Given the description of an element on the screen output the (x, y) to click on. 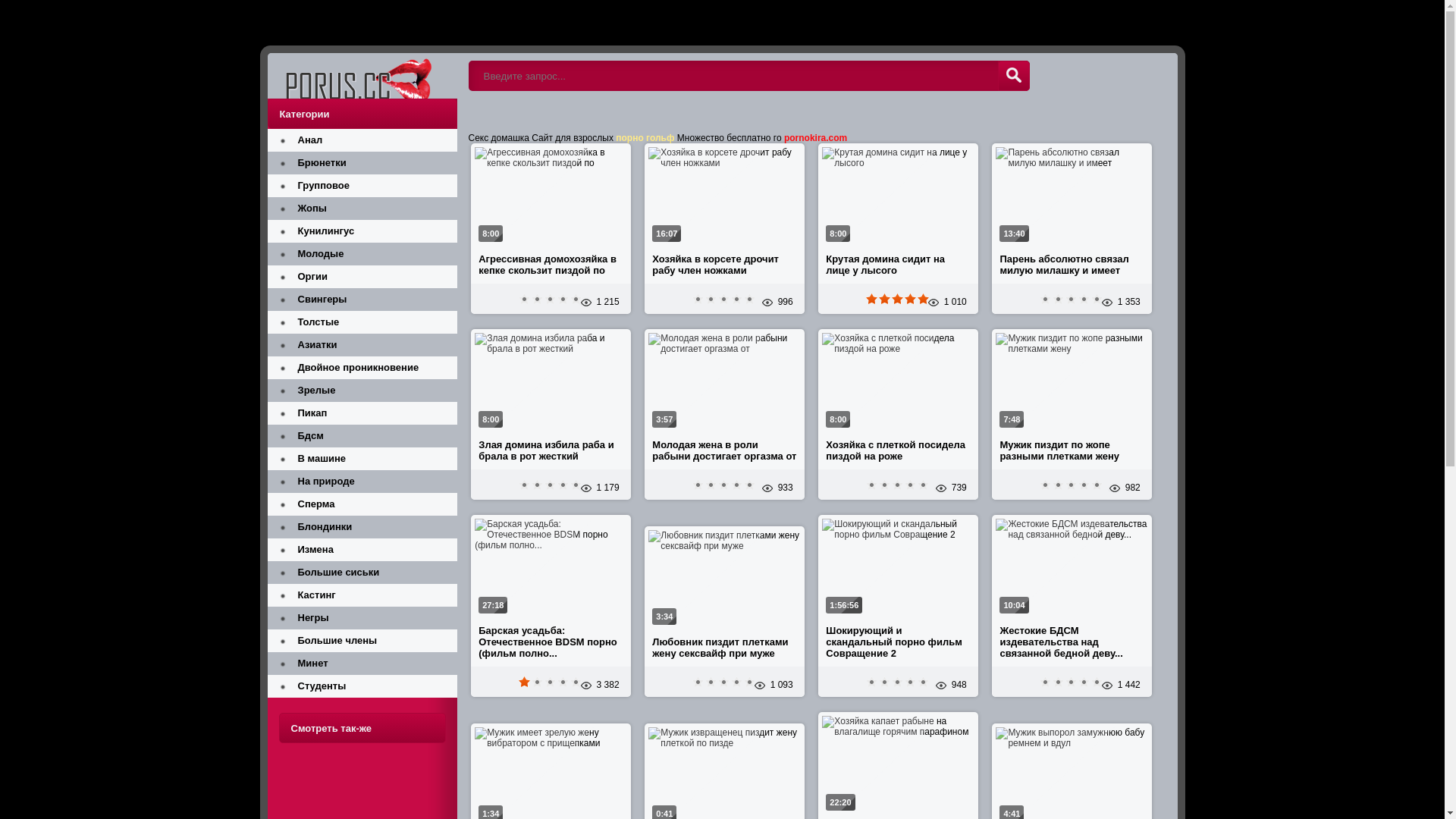
pornokira.com Element type: text (815, 137)
